Given the description of an element on the screen output the (x, y) to click on. 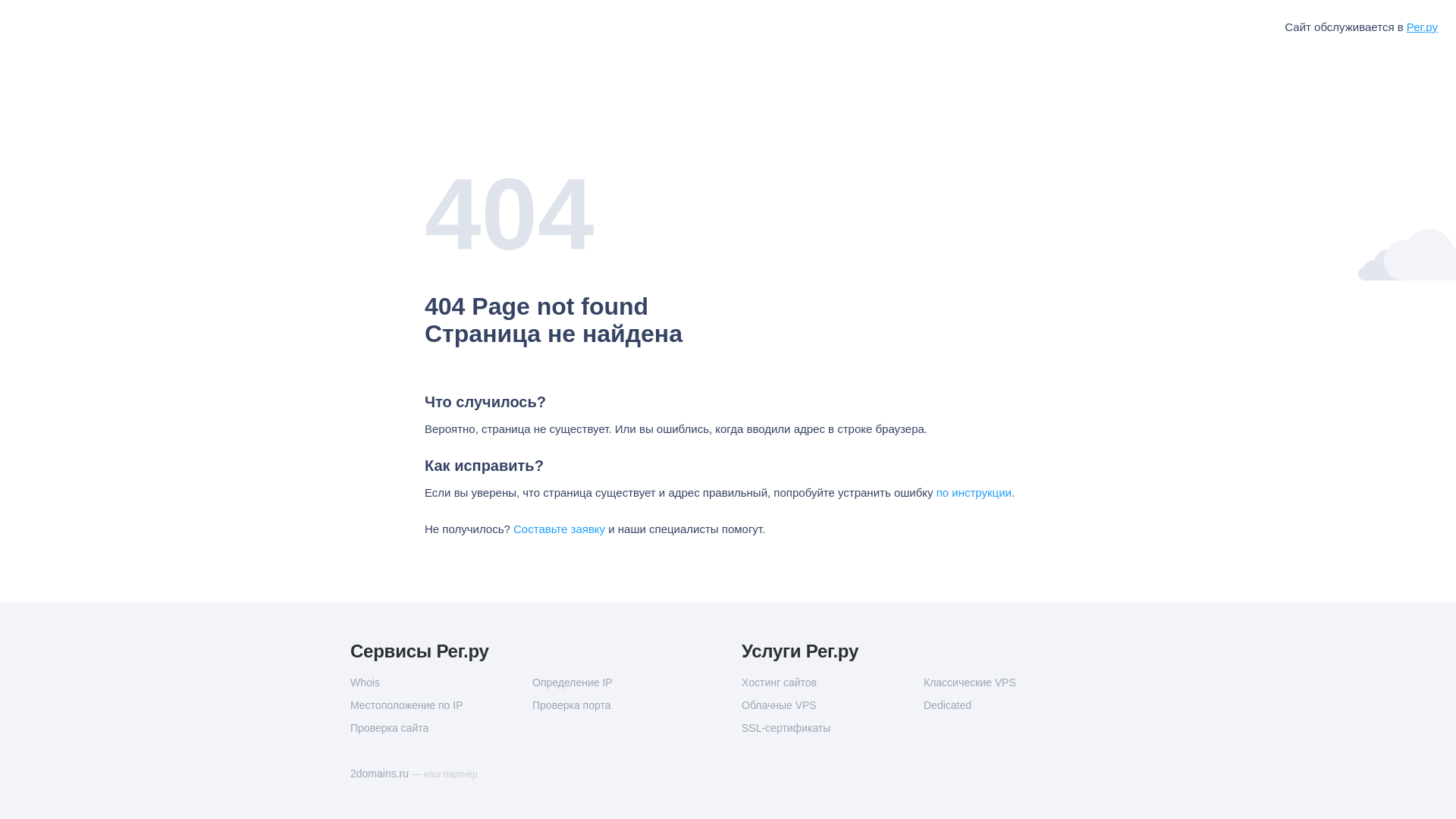
Dedicated (1014, 705)
2domains.ru (381, 773)
Whois (441, 682)
